Given the description of an element on the screen output the (x, y) to click on. 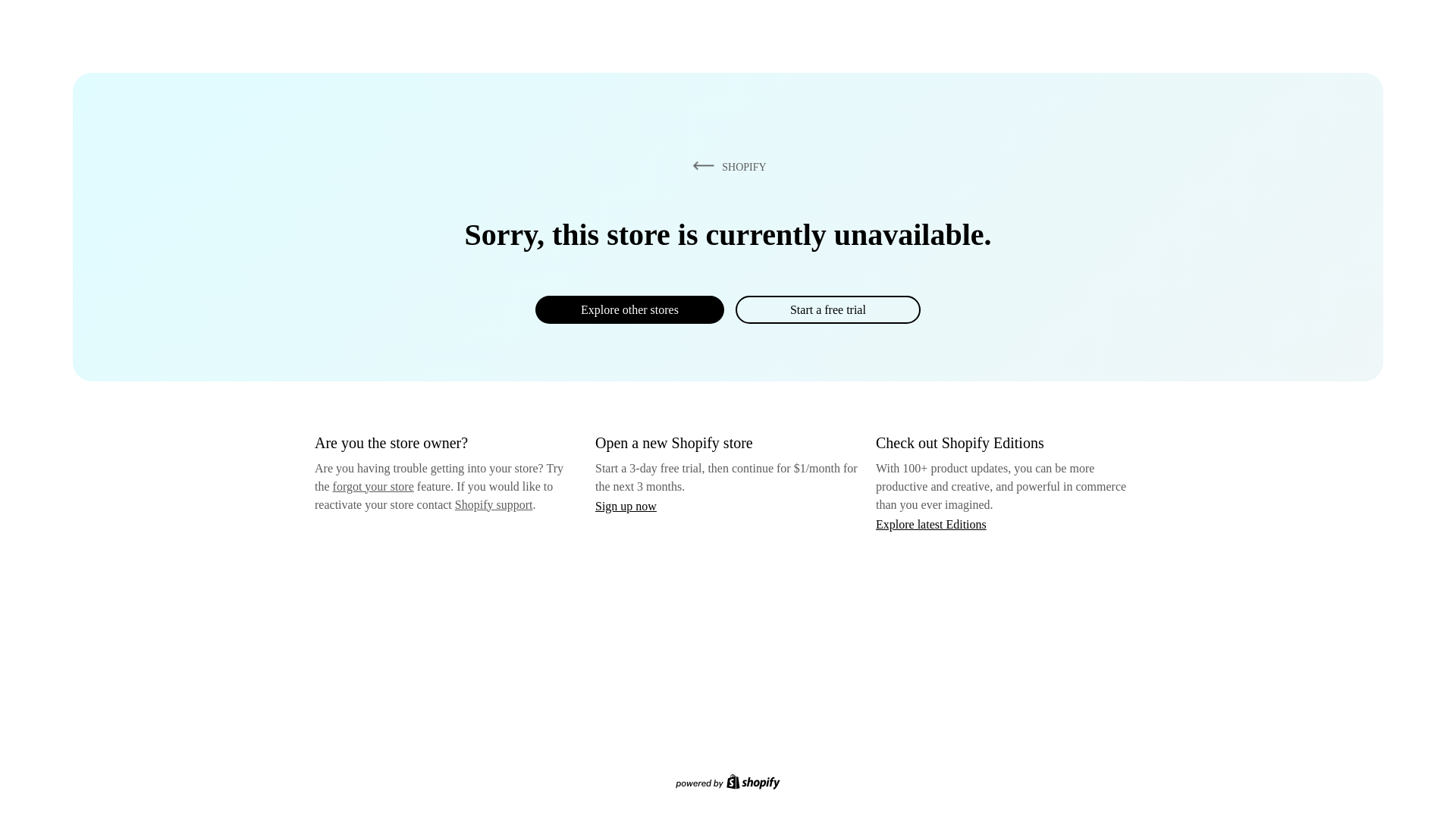
Start a free trial (827, 309)
forgot your store (373, 486)
Explore other stores (629, 309)
SHOPIFY (726, 166)
Sign up now (625, 505)
Explore latest Editions (931, 523)
Shopify support (493, 504)
